Given the description of an element on the screen output the (x, y) to click on. 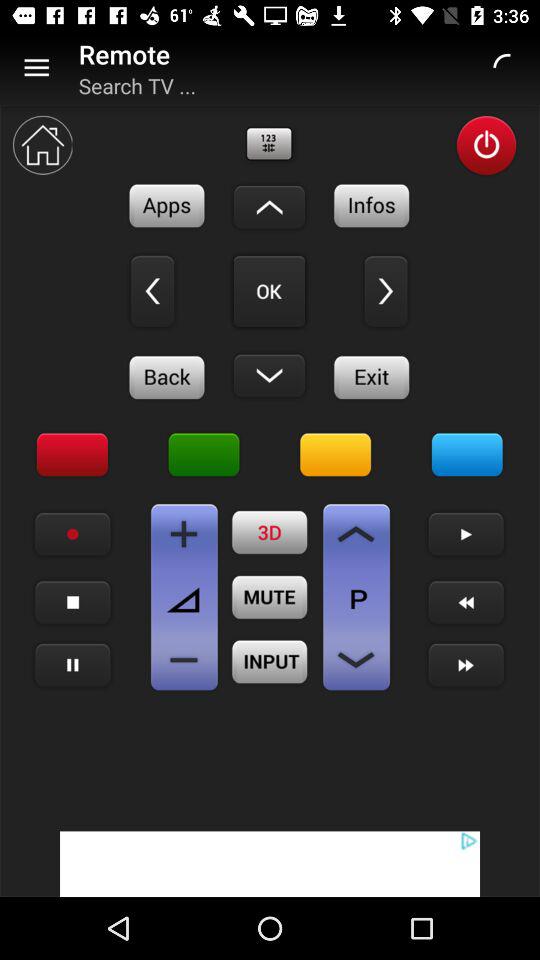
input button (269, 661)
